Given the description of an element on the screen output the (x, y) to click on. 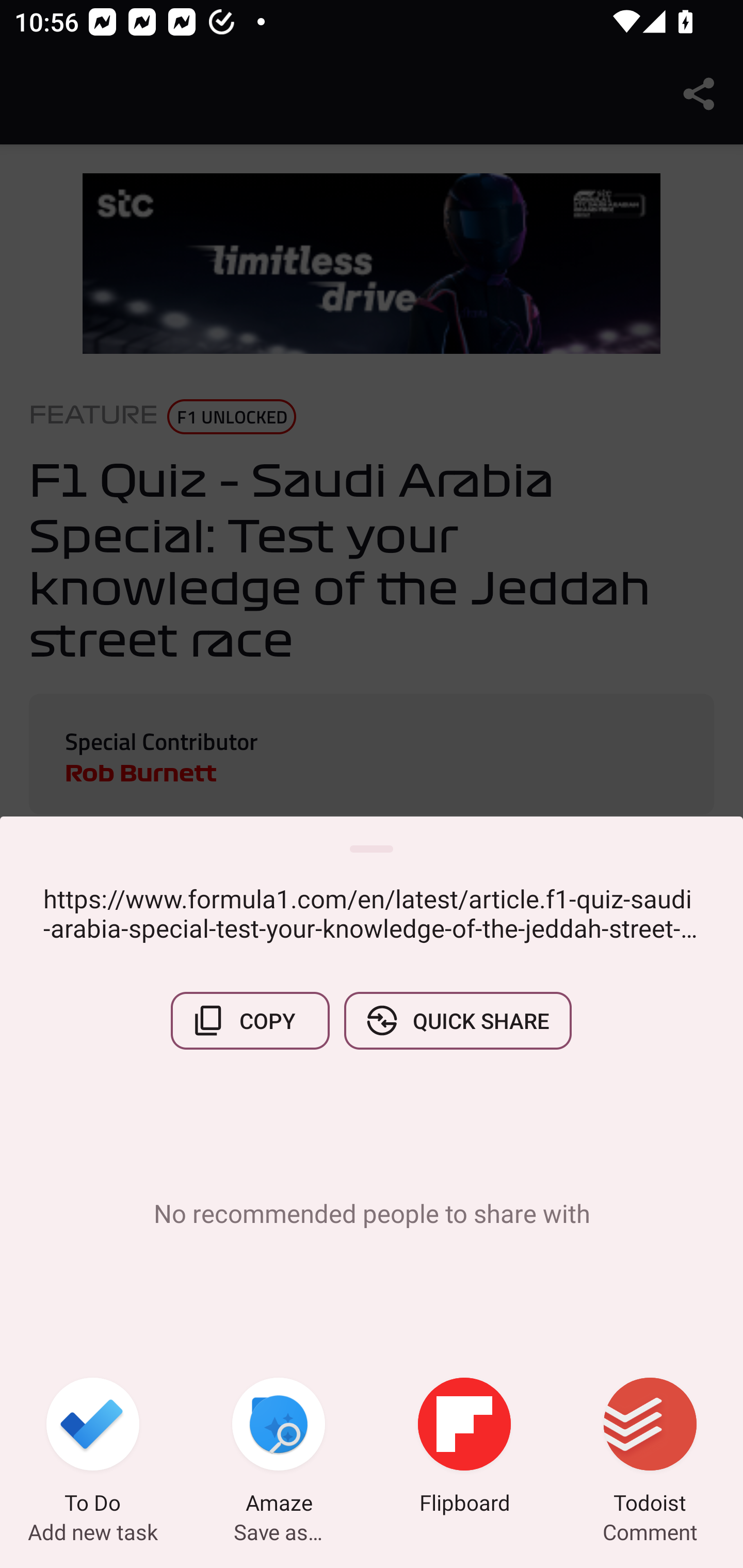
COPY (249, 1020)
QUICK SHARE (457, 1020)
To Do Add new task (92, 1448)
Amaze Save as… (278, 1448)
Flipboard (464, 1448)
Todoist Comment (650, 1448)
